Given the description of an element on the screen output the (x, y) to click on. 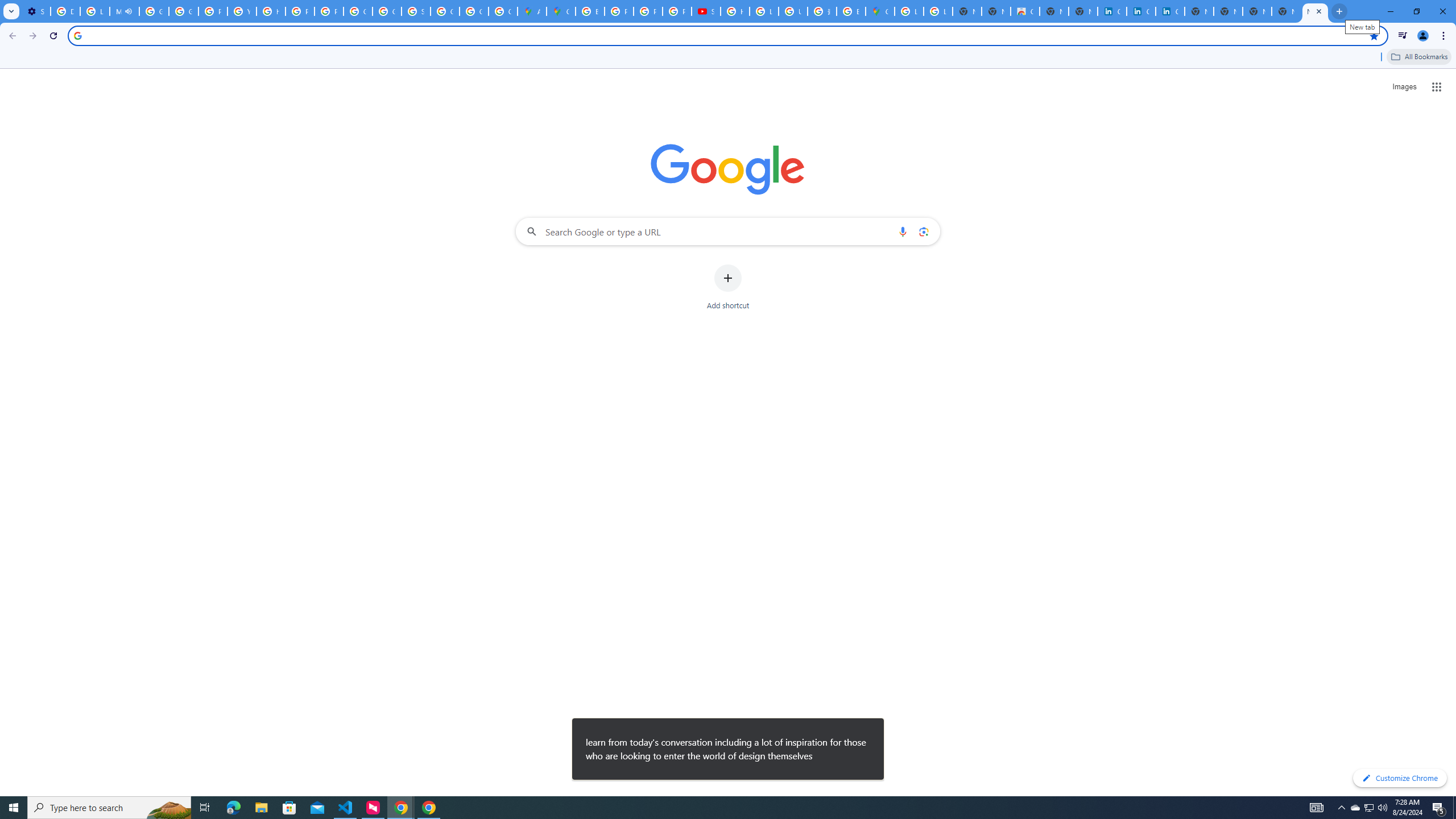
Create your Google Account (502, 11)
Subscriptions - YouTube (705, 11)
Settings - Customize profile (35, 11)
Google Account Help (153, 11)
Sign in - Google Accounts (415, 11)
